Given the description of an element on the screen output the (x, y) to click on. 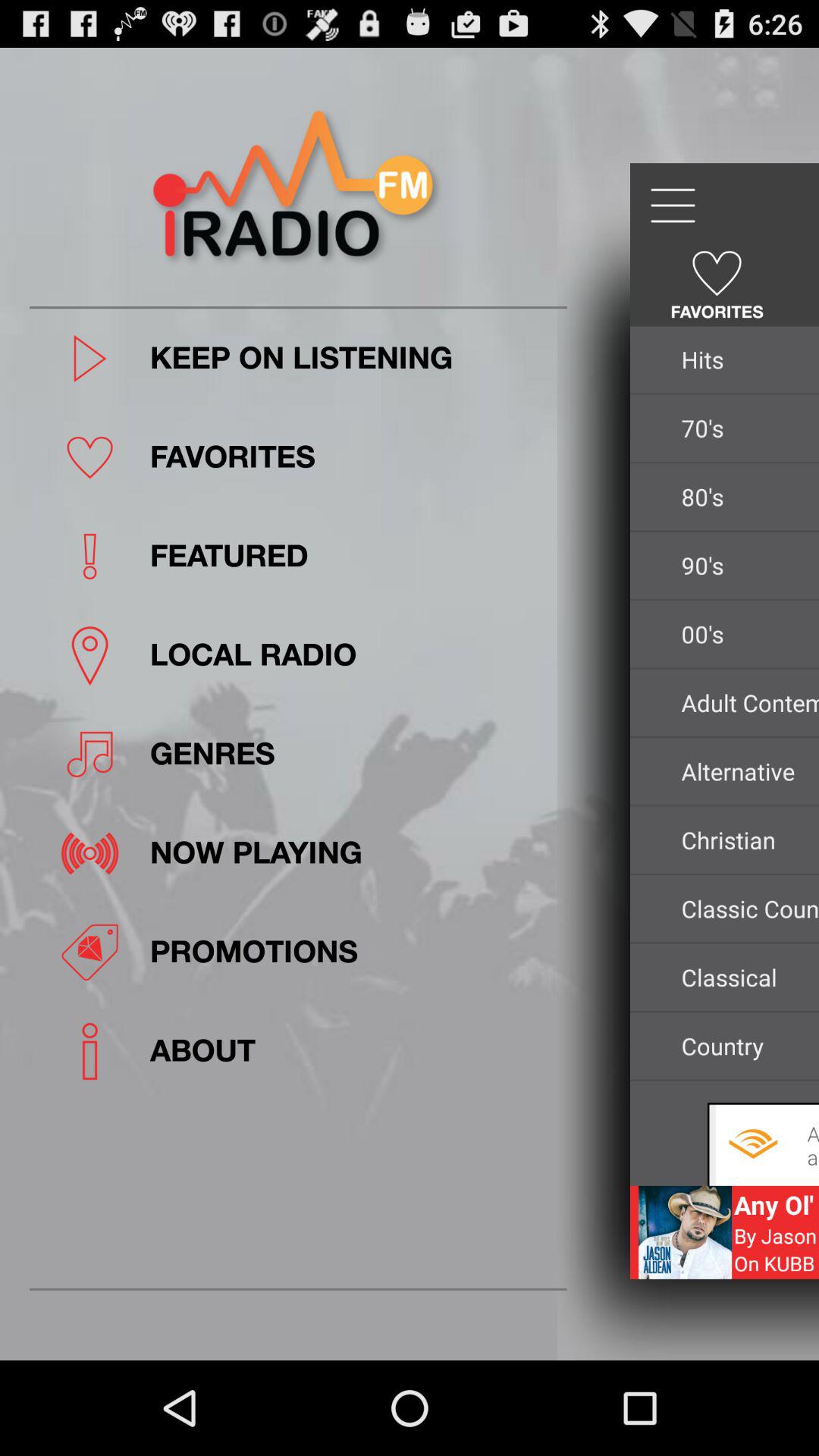
scroll until the hits item (745, 359)
